Given the description of an element on the screen output the (x, y) to click on. 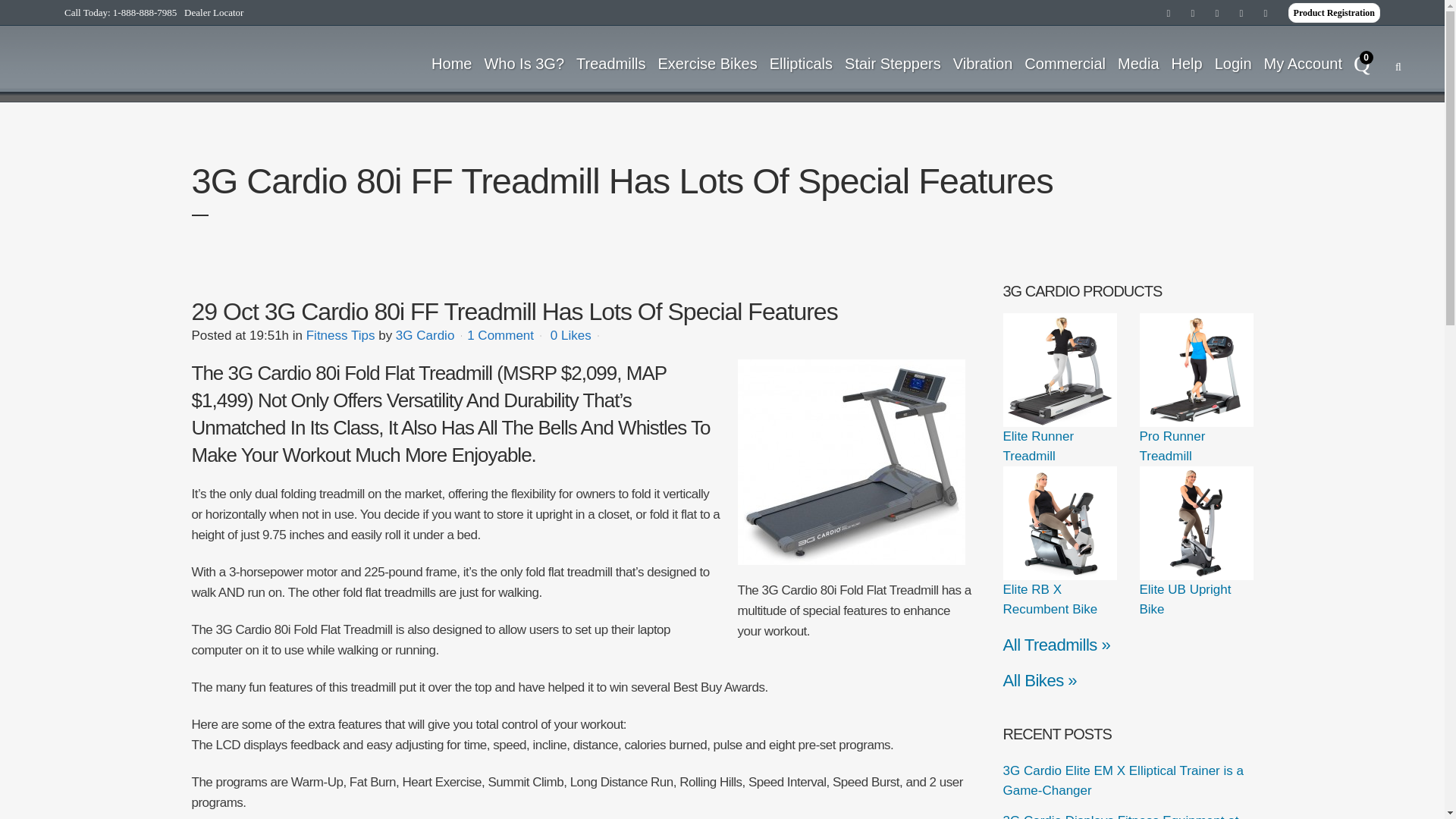
Like this (570, 335)
Exercise Bikes (707, 63)
Ellipticals (800, 63)
Product Registration (1334, 12)
Commercial (1064, 63)
Vibration (983, 63)
Dealer Locator (213, 12)
Treadmills (611, 63)
Stair Steppers (892, 63)
Call Today: 1-888-888-7985 (120, 12)
